Given the description of an element on the screen output the (x, y) to click on. 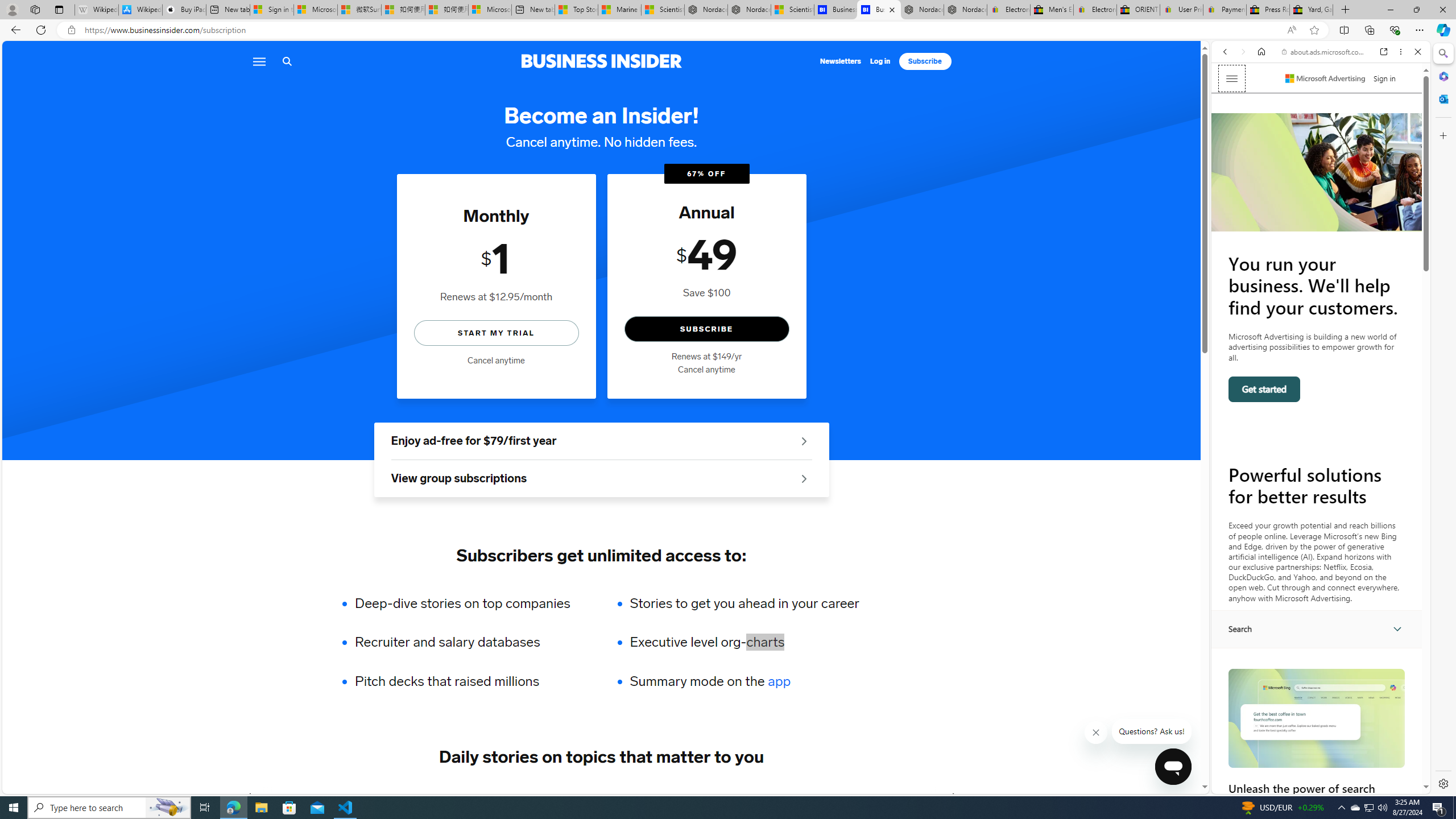
Minimize Search pane (1442, 53)
about.ads.microsoft.com (1323, 51)
Microsoft Advertising (1325, 78)
Go to the search page. (286, 61)
